Given the description of an element on the screen output the (x, y) to click on. 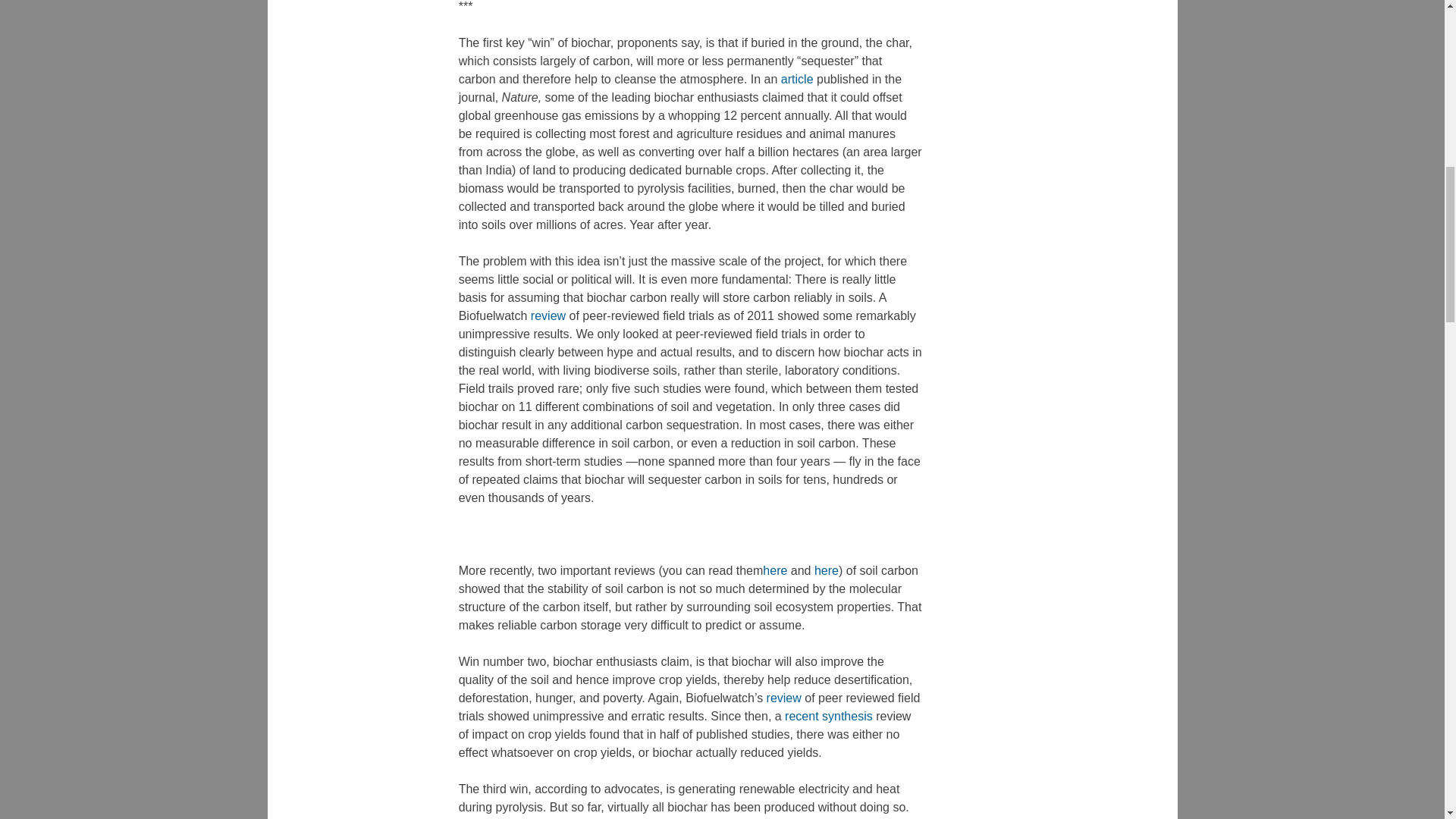
here (774, 570)
review (782, 697)
here (825, 570)
recent synthesis (828, 716)
article (796, 78)
review (548, 315)
